Given the description of an element on the screen output the (x, y) to click on. 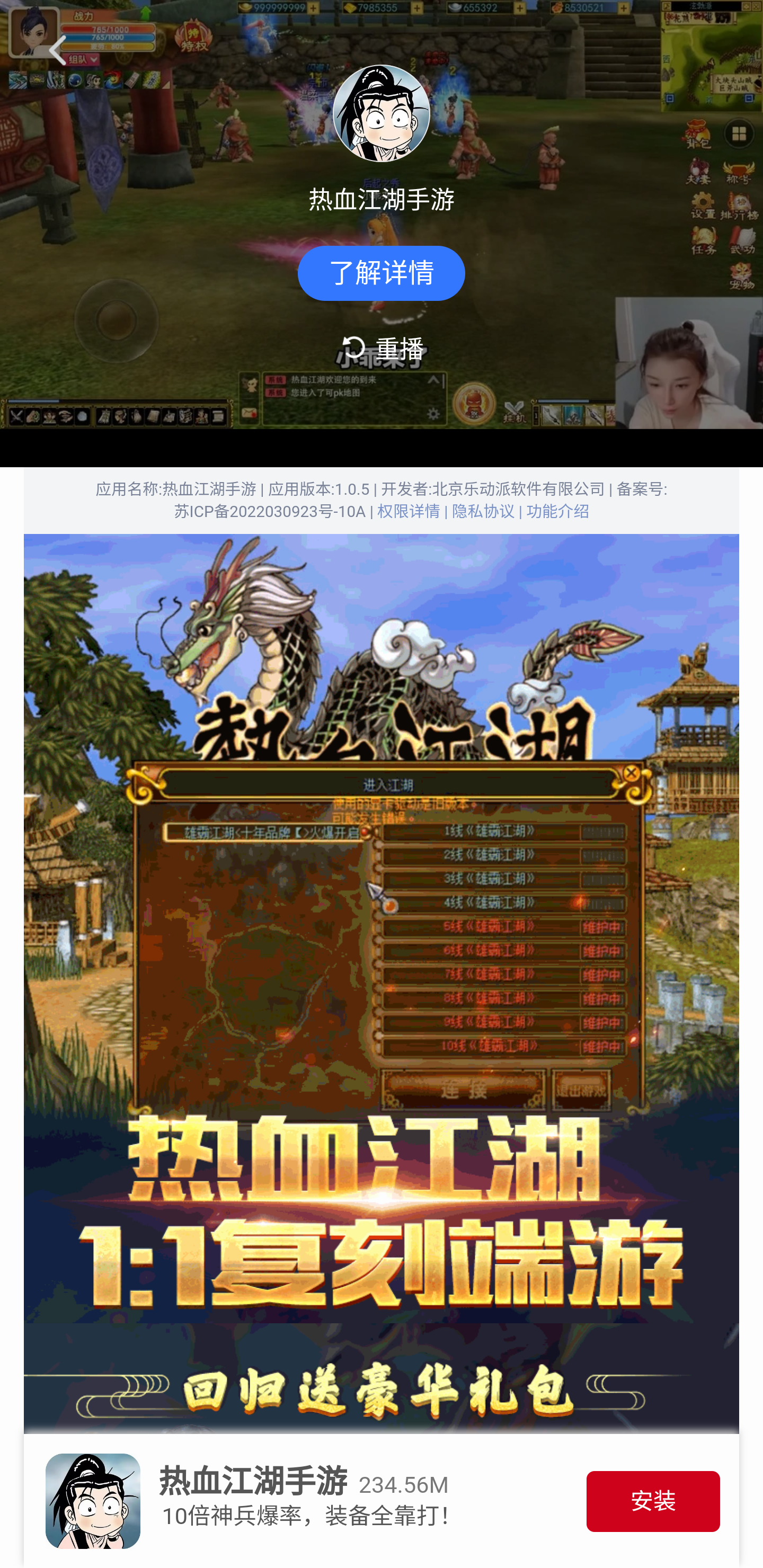
广告 热血江湖手游 了解详情 重播 (381, 214)
了解详情 (381, 273)
重播 (381, 346)
安装 (653, 1500)
